Given the description of an element on the screen output the (x, y) to click on. 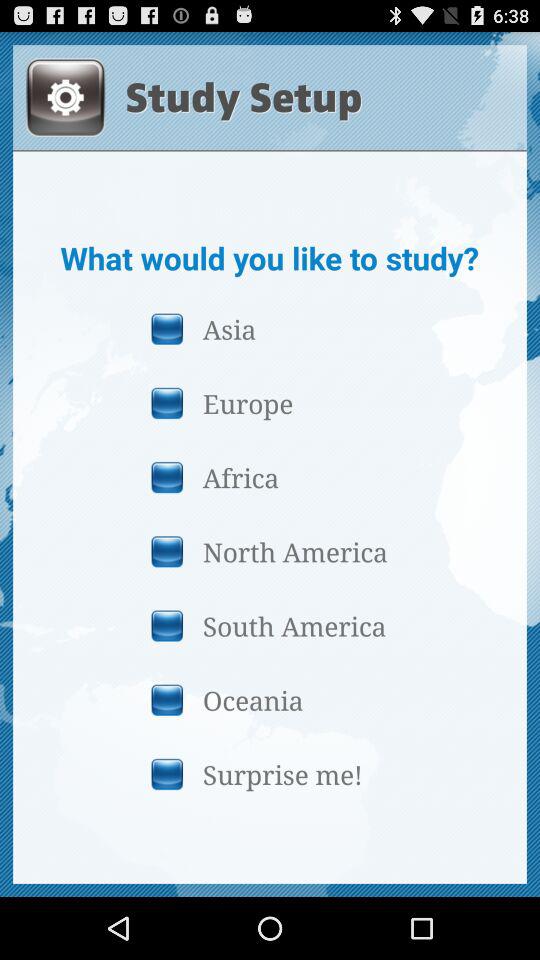
launch the north america (269, 551)
